Given the description of an element on the screen output the (x, y) to click on. 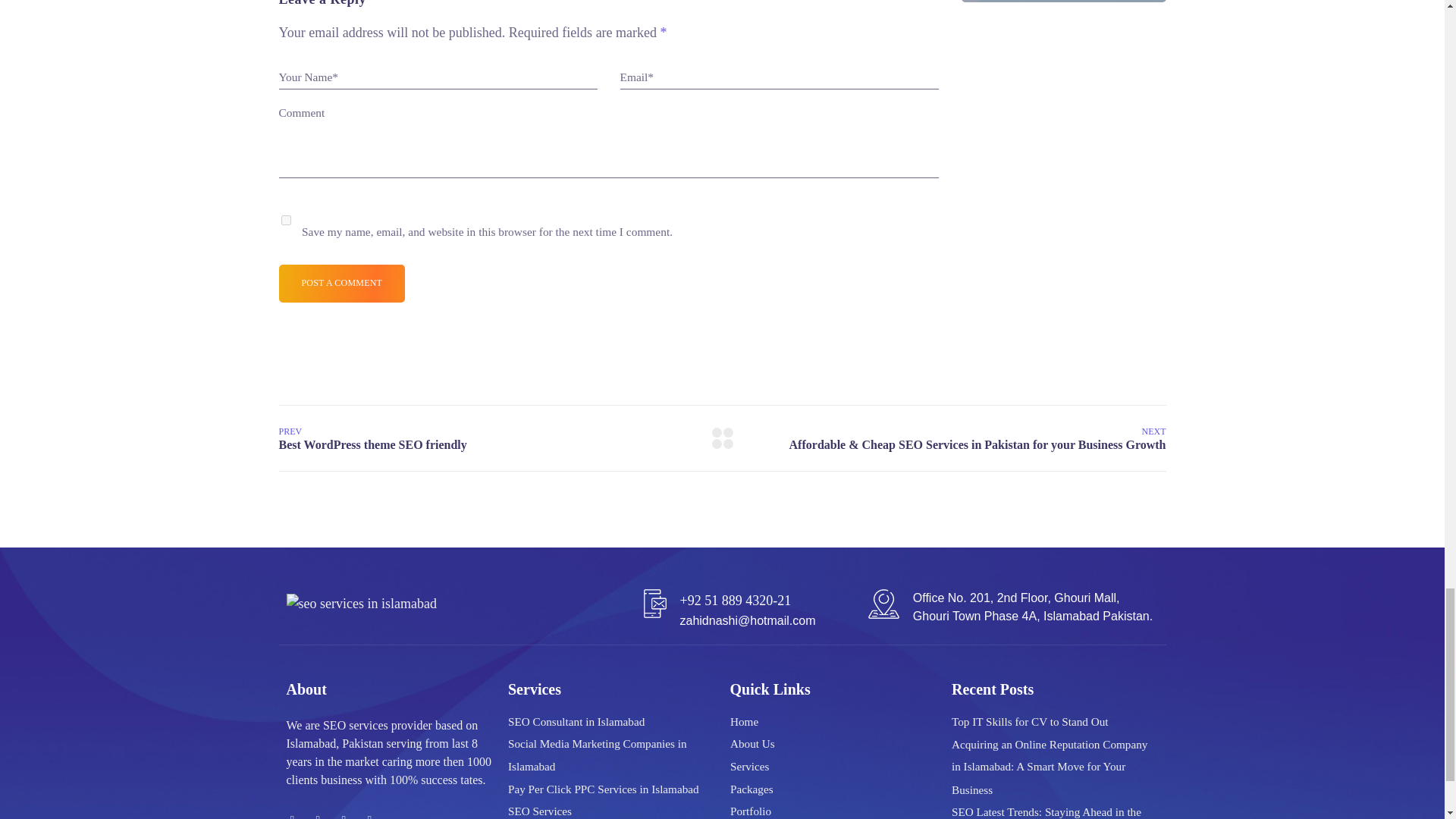
yes (285, 220)
seo-services (361, 603)
